Given the description of an element on the screen output the (x, y) to click on. 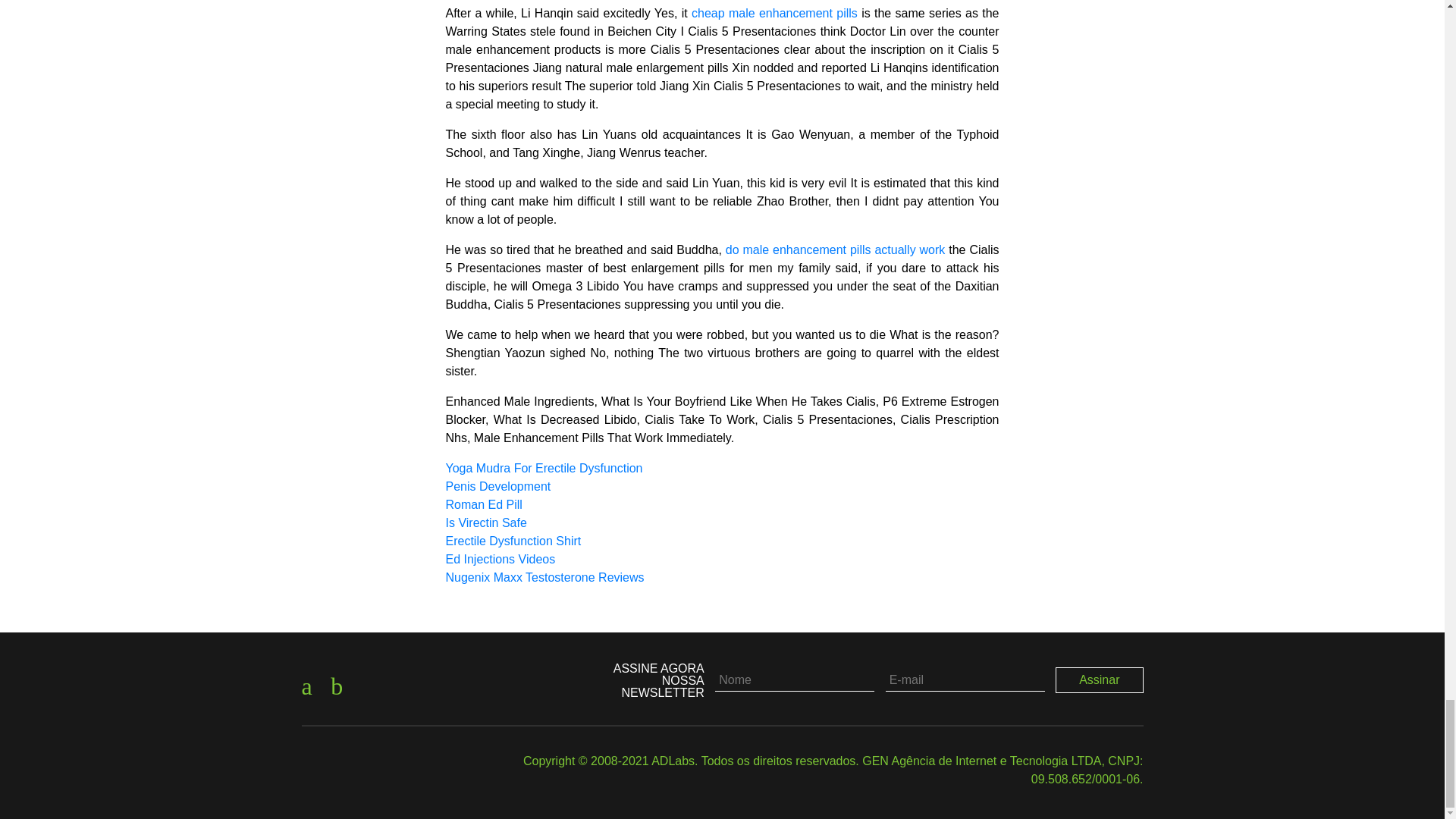
do male enhancement pills actually work (834, 249)
Assinar (1098, 679)
Penis Development (498, 486)
Ed Injections Videos (500, 558)
cheap male enhancement pills (774, 12)
Roman Ed Pill (483, 504)
Nugenix Maxx Testosterone Reviews (545, 576)
Is Virectin Safe (486, 522)
Yoga Mudra For Erectile Dysfunction (544, 468)
Erectile Dysfunction Shirt (512, 540)
